Given the description of an element on the screen output the (x, y) to click on. 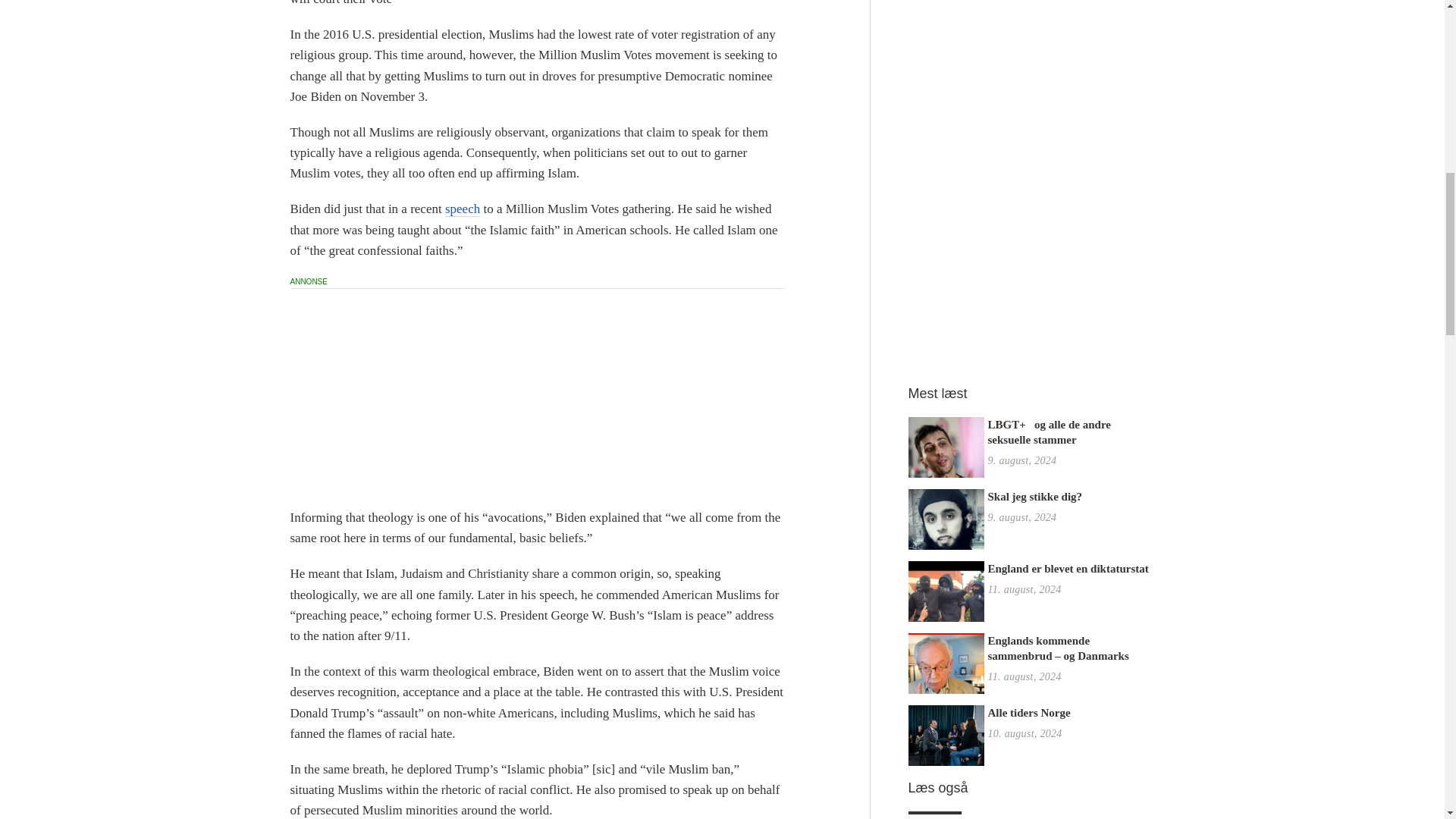
Advertisement (536, 395)
England er blevet en diktaturstat (946, 599)
speech (462, 209)
Skal jeg stikke dig? (1034, 496)
Skal jeg stikke dig? (946, 526)
England er blevet en diktaturstat (1067, 568)
